Given the description of an element on the screen output the (x, y) to click on. 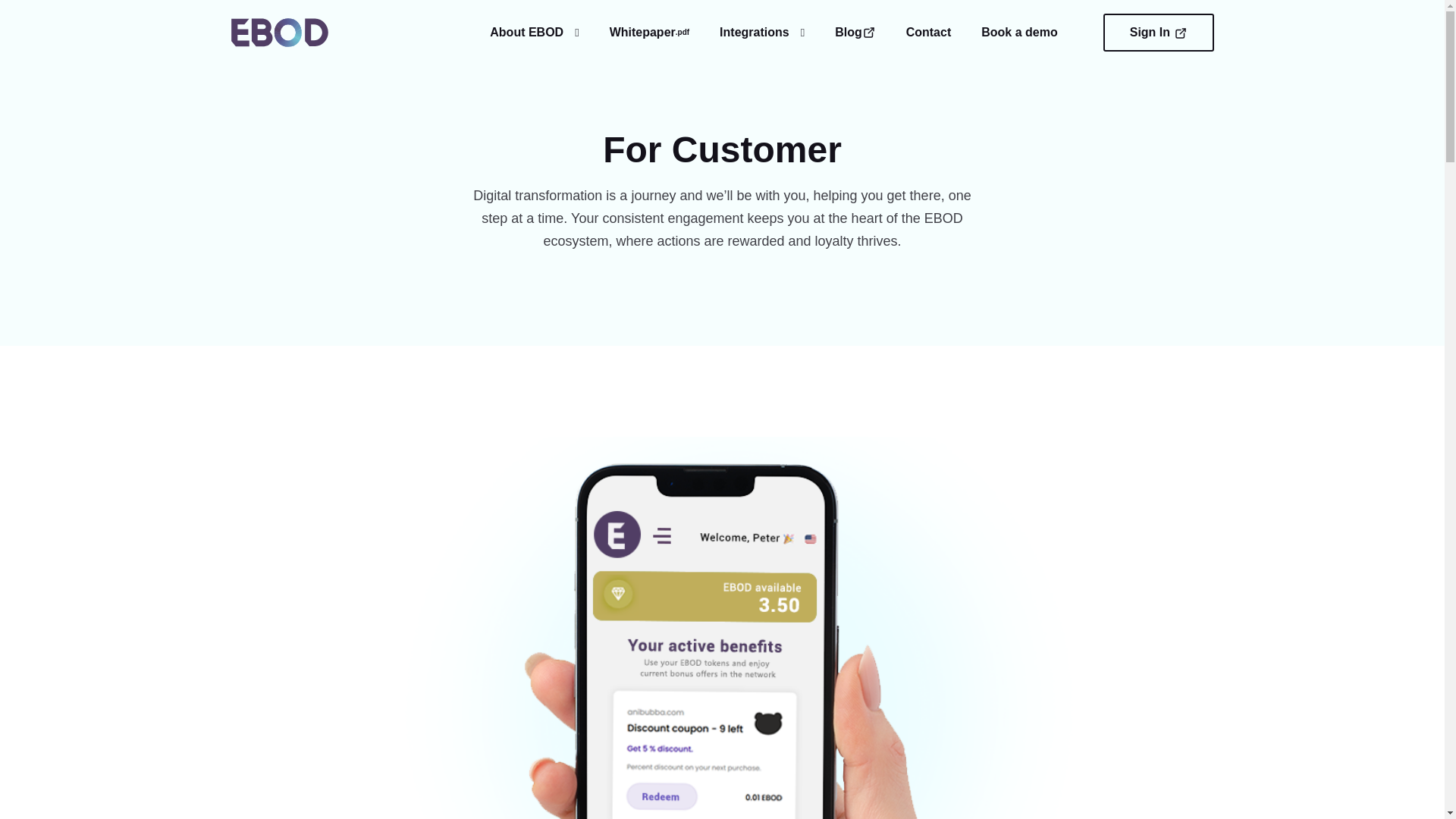
Integrations (761, 32)
Contact (928, 32)
Book a demo (1018, 32)
Sign In (1158, 32)
About EBOD (534, 32)
Blog (855, 32)
